Given the description of an element on the screen output the (x, y) to click on. 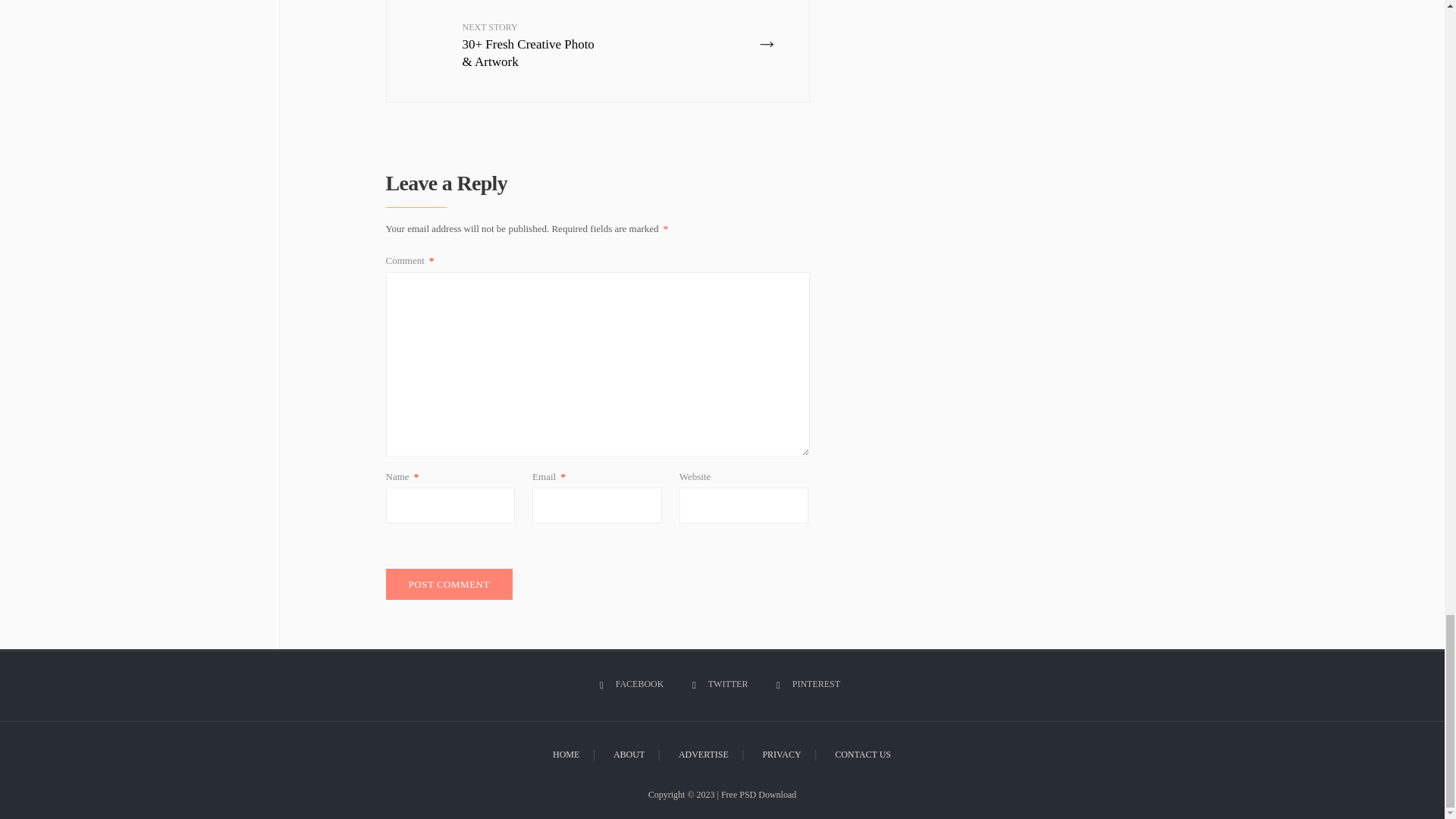
Post Comment (448, 584)
